Given the description of an element on the screen output the (x, y) to click on. 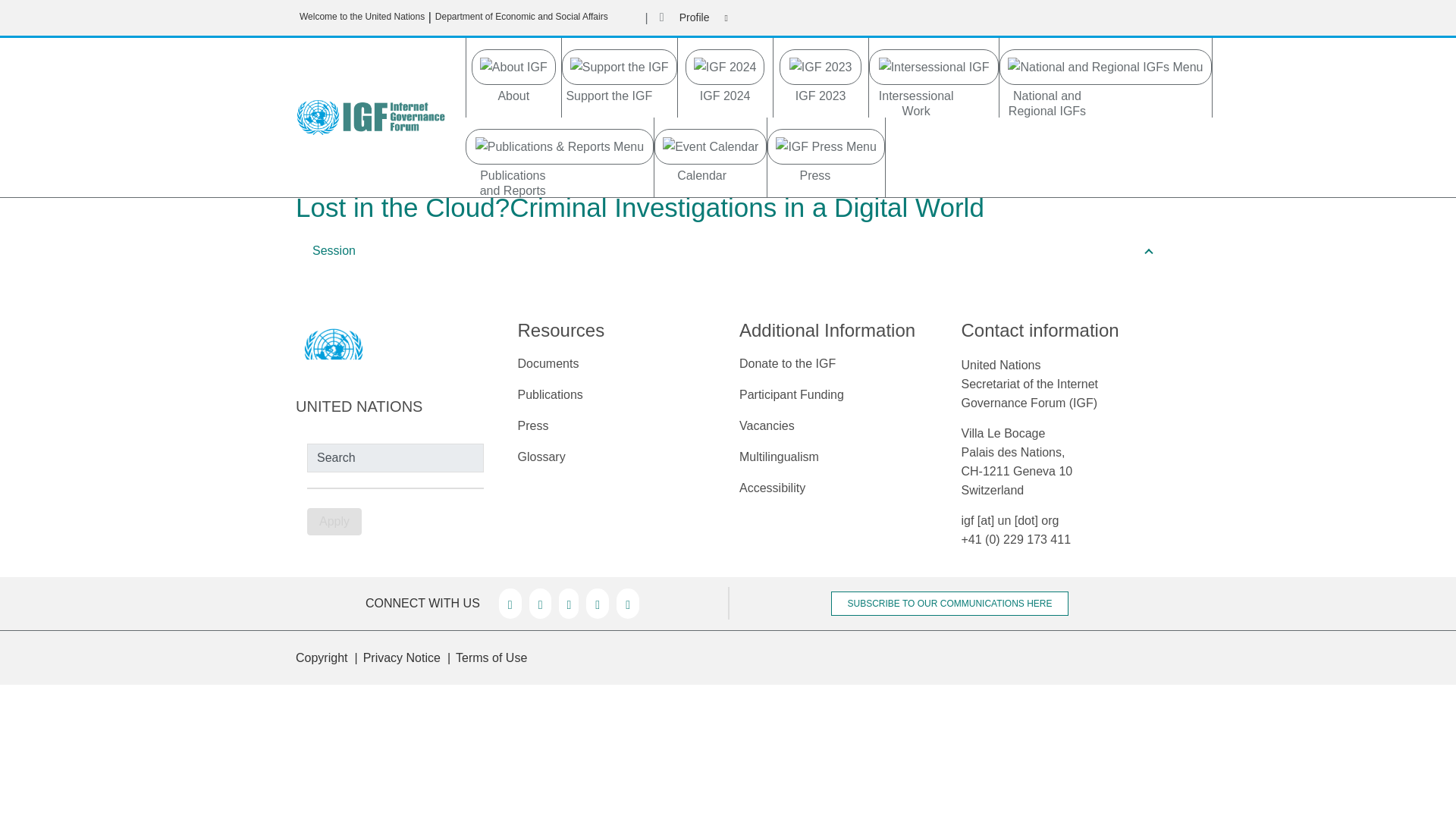
Search (395, 457)
Home (376, 117)
Department of Economic and Social Affairs (521, 16)
Apply (334, 521)
Welcome to the United Nations (362, 16)
